Given the description of an element on the screen output the (x, y) to click on. 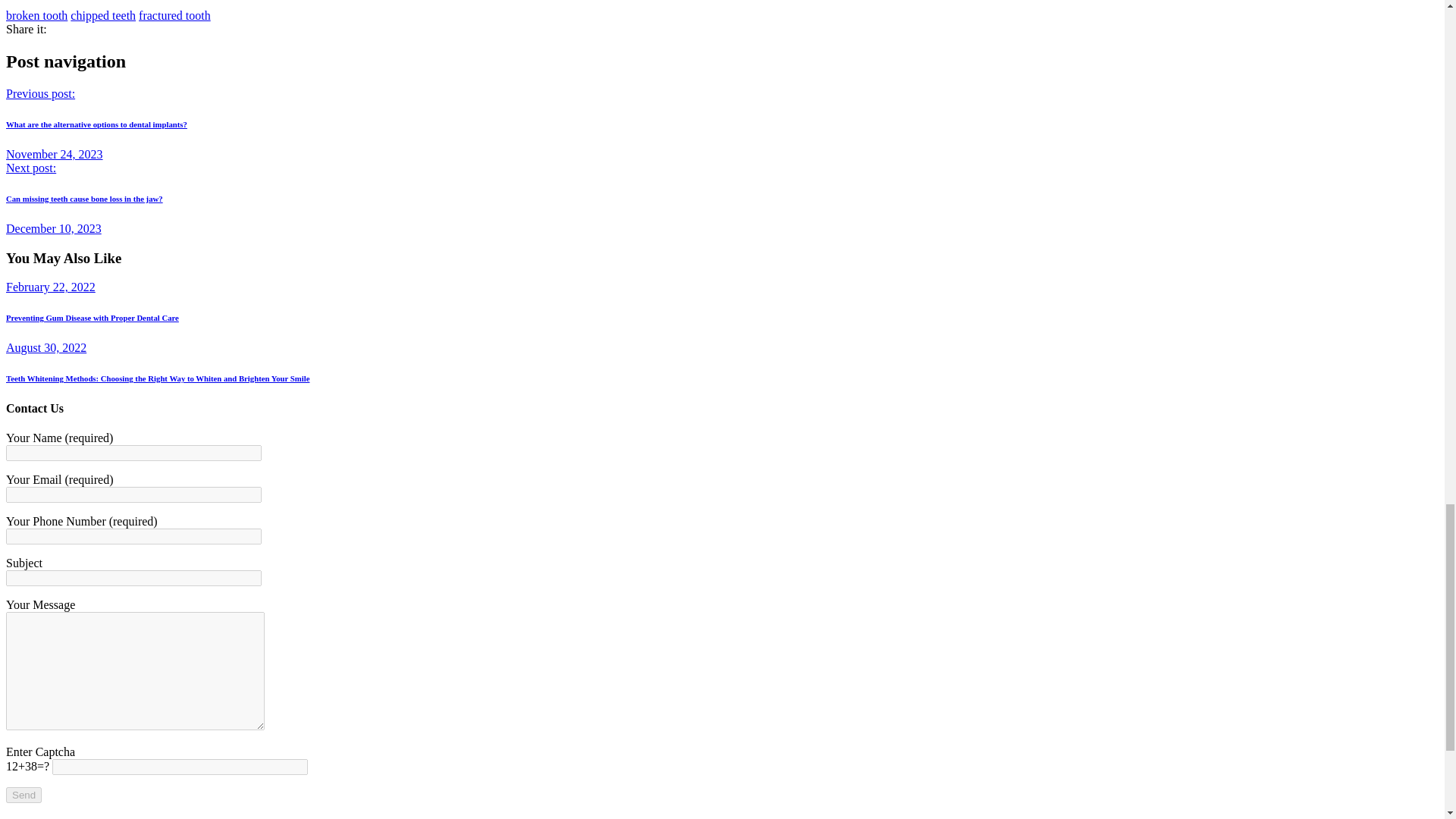
broken tooth (35, 15)
chipped teeth (102, 15)
Send (23, 795)
fractured tooth (174, 15)
